Given the description of an element on the screen output the (x, y) to click on. 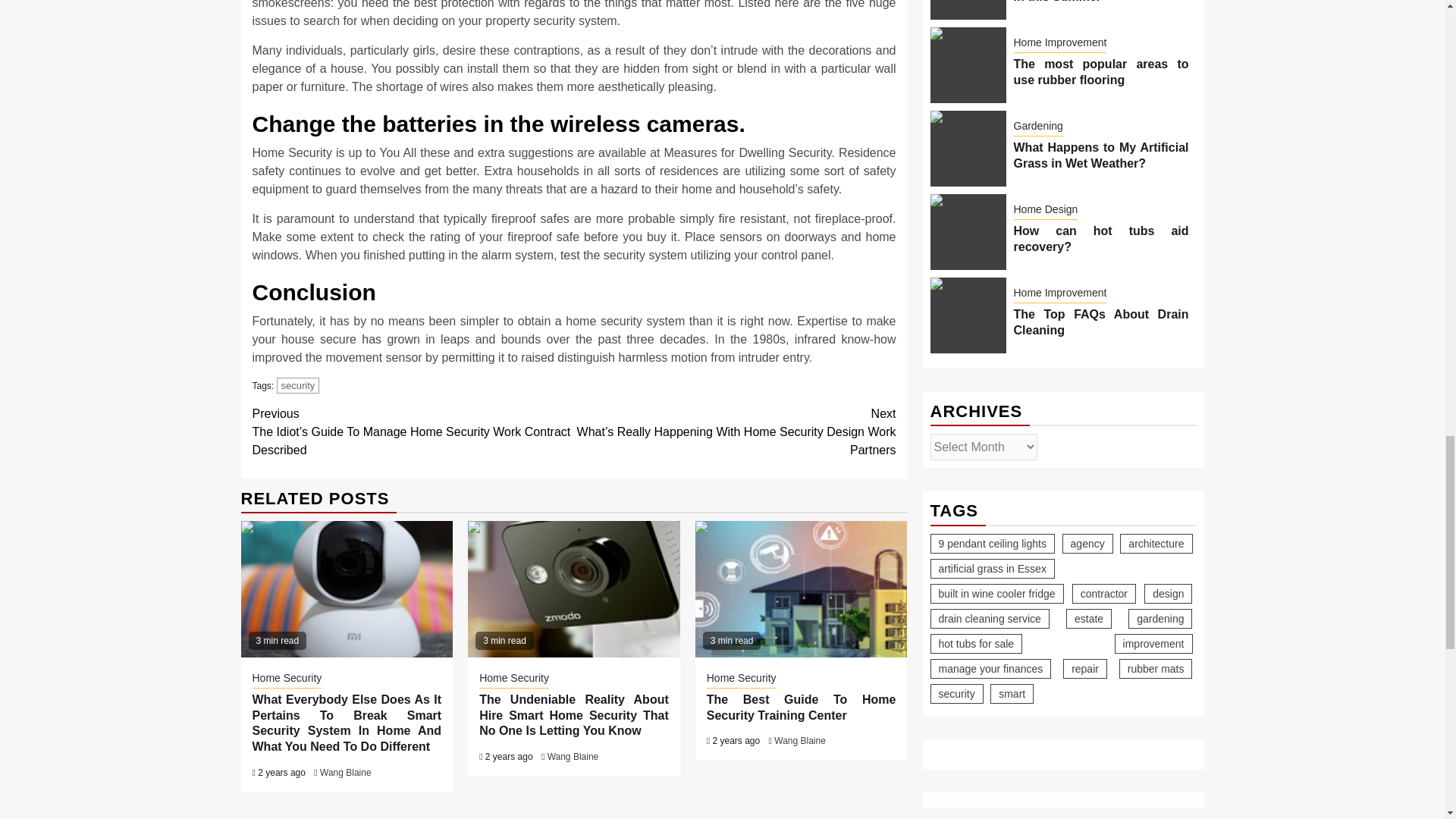
Home Security (286, 679)
Home Security (741, 679)
Wang Blaine (572, 756)
Wang Blaine (345, 772)
Home Security (513, 679)
Wang Blaine (799, 740)
security (298, 385)
